Given the description of an element on the screen output the (x, y) to click on. 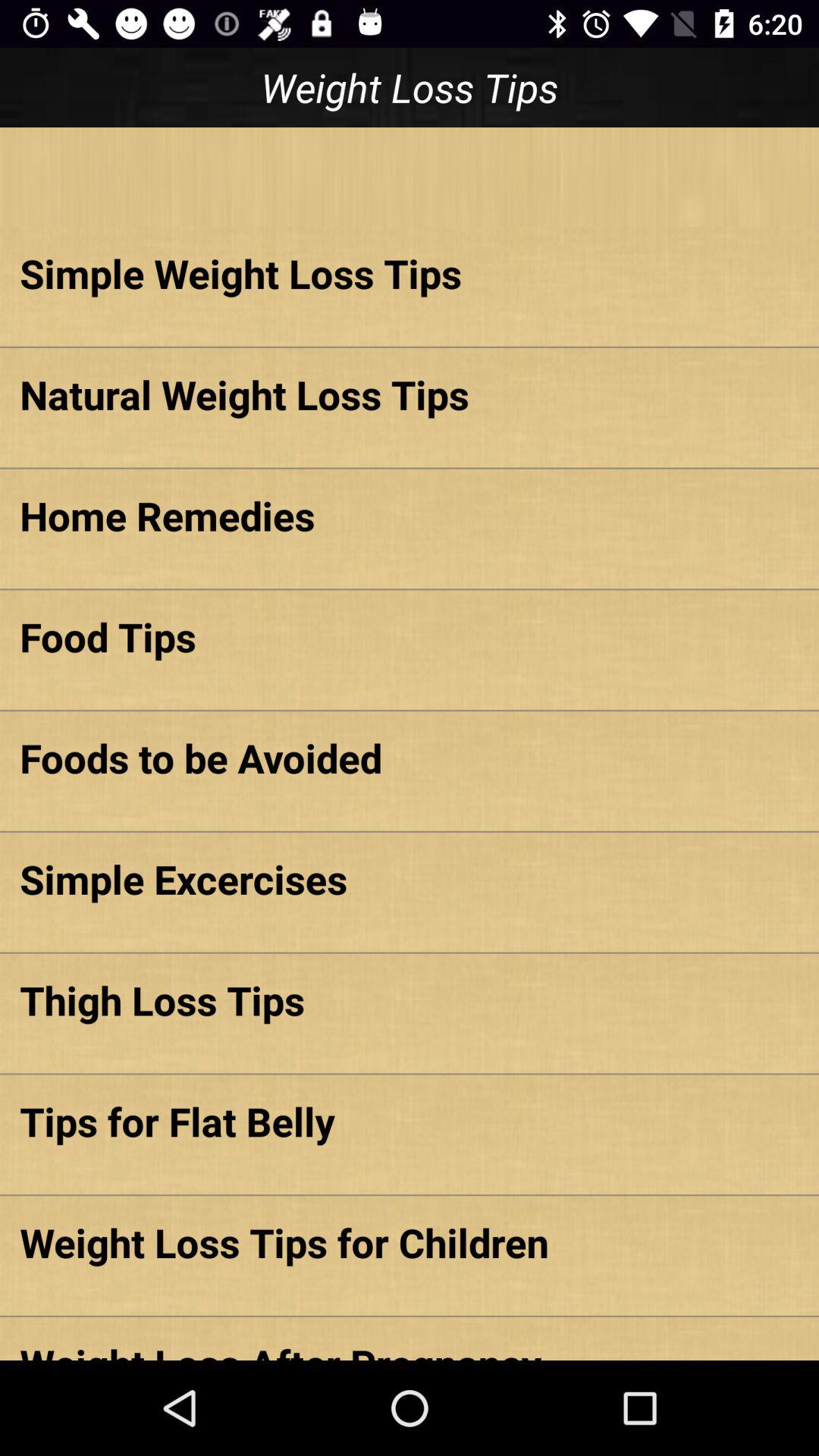
click item below the weight loss tips app (409, 176)
